Given the description of an element on the screen output the (x, y) to click on. 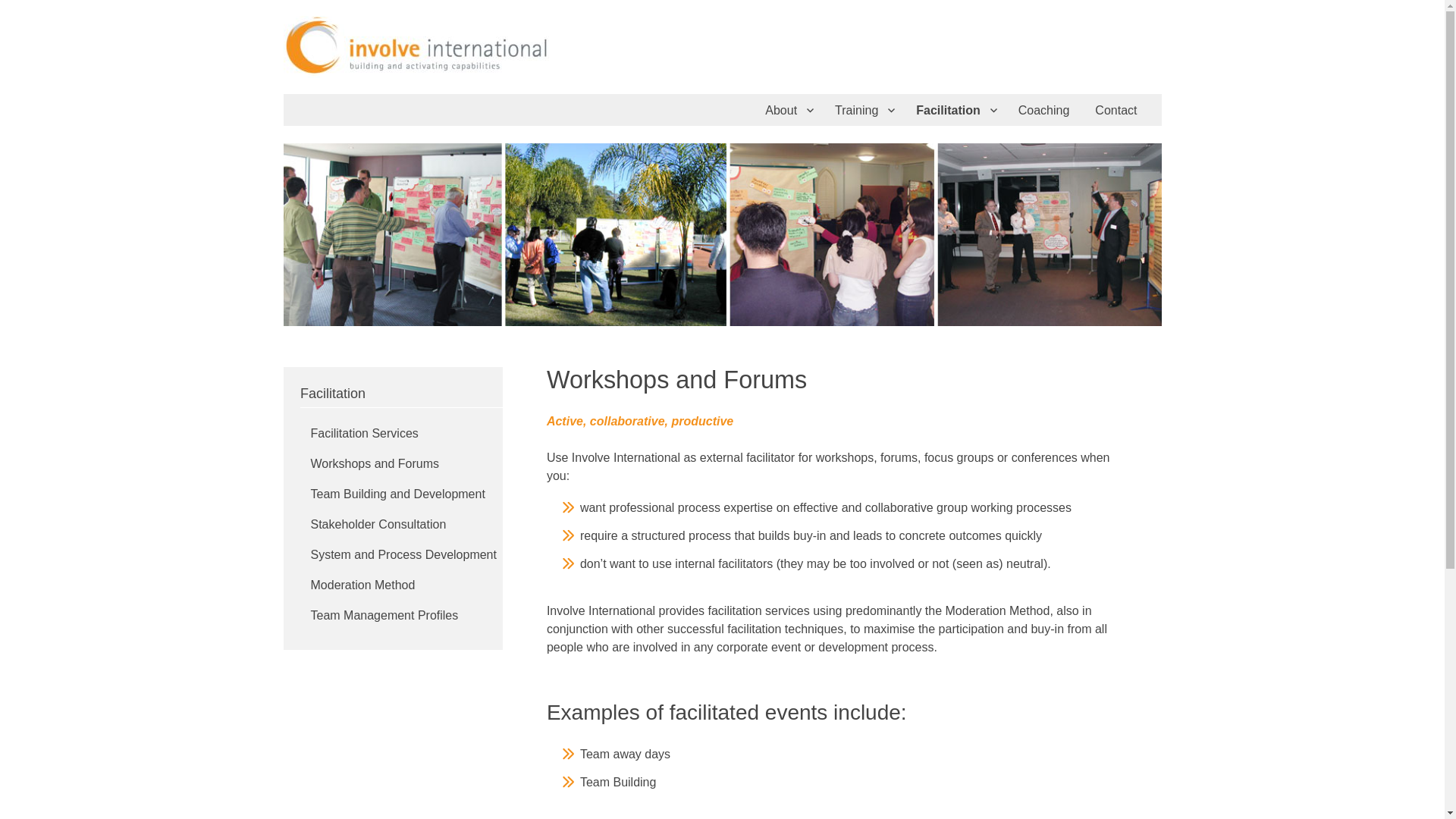
Facilitation Element type: text (956, 109)
Team Management Profiles Element type: text (384, 614)
Stakeholder Consultation Element type: text (378, 523)
About Element type: text (789, 109)
System and Process Development Element type: text (403, 554)
Moderation Method Element type: text (362, 584)
Team Building and Development Element type: text (397, 493)
Workshops and Forums Element type: text (374, 463)
Facilitation Services Element type: text (364, 432)
Coaching Element type: text (1046, 109)
Facilitation Element type: text (393, 396)
Contact Element type: text (1117, 109)
Training Element type: text (864, 109)
